Given the description of an element on the screen output the (x, y) to click on. 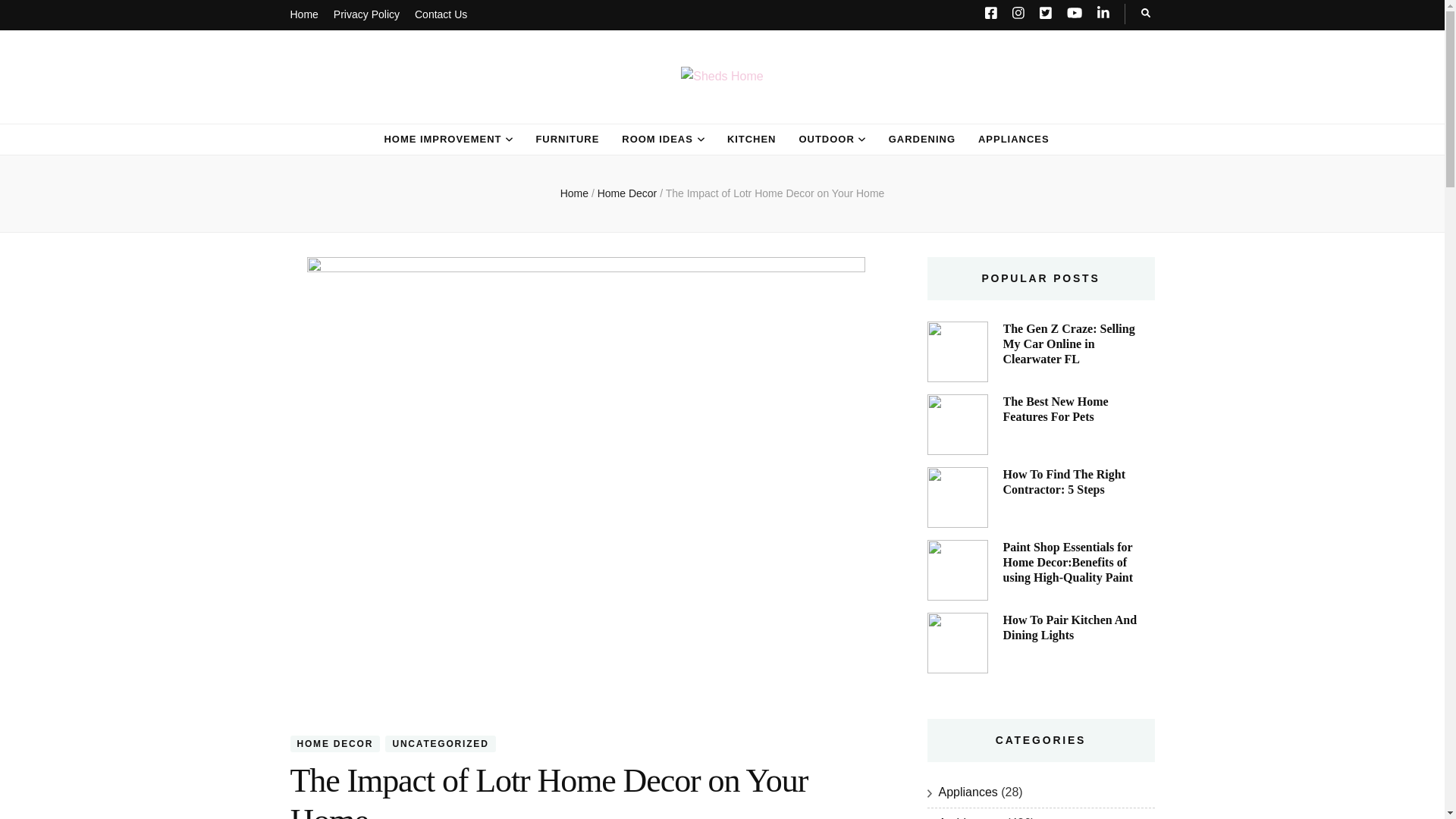
ROOM IDEAS (657, 139)
APPLIANCES (1013, 139)
Home (303, 15)
Privacy Policy (365, 15)
Sheds Home (407, 110)
Home Decor (627, 193)
Home (574, 193)
Contact Us (440, 15)
The Impact of Lotr Home Decor on Your Home (775, 193)
UNCATEGORIZED (440, 743)
GARDENING (921, 139)
KITCHEN (751, 139)
OUTDOOR (825, 139)
HOME IMPROVEMENT (442, 139)
HOME DECOR (334, 743)
